Given the description of an element on the screen output the (x, y) to click on. 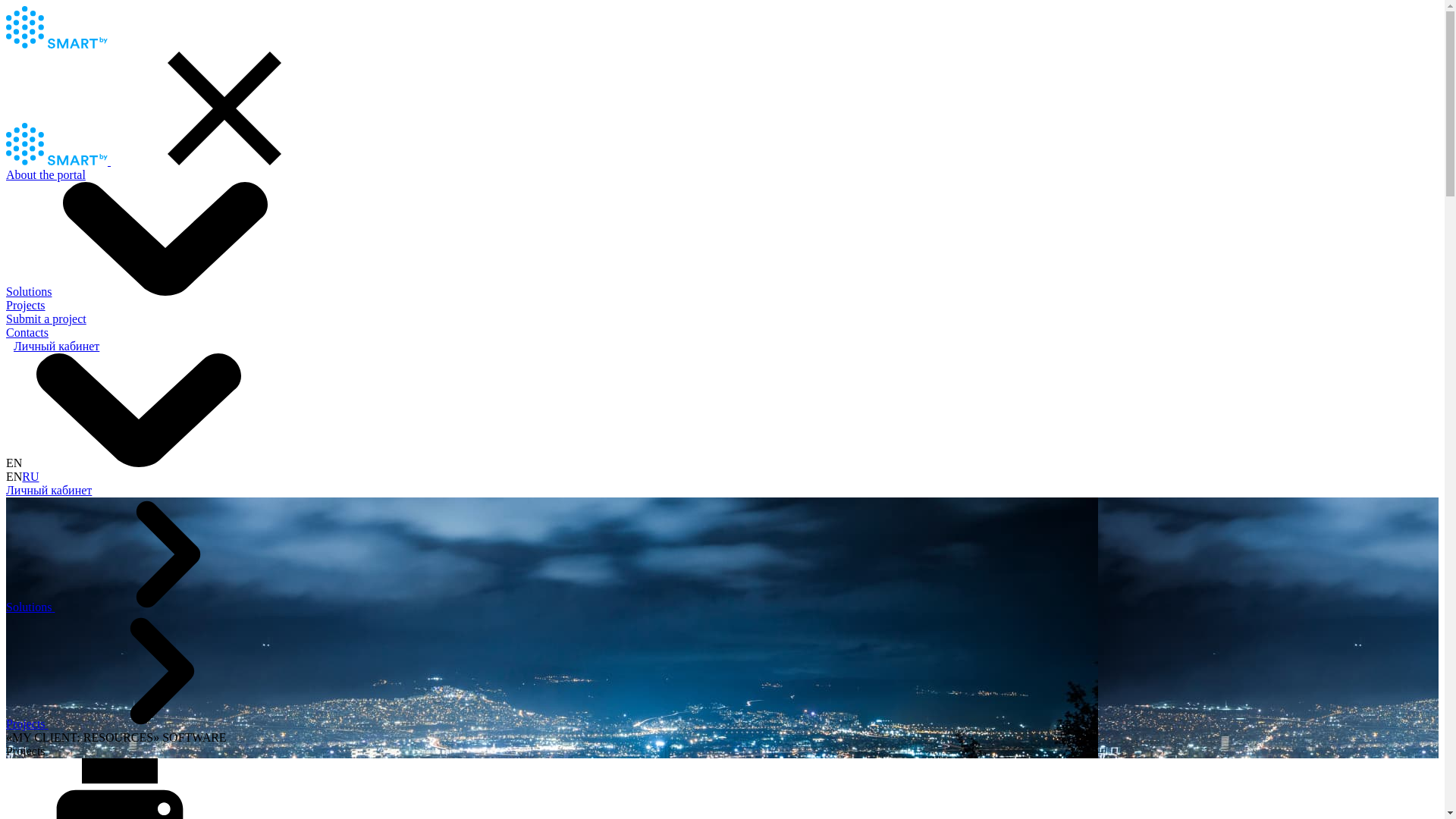
Solutions Element type: text (30, 606)
About the portal Element type: text (45, 174)
RU Element type: text (29, 476)
en.smart.by Element type: hover (58, 160)
Projects Element type: text (25, 304)
Solutions Element type: text (142, 291)
en.smart.by Element type: hover (56, 43)
Contacts Element type: text (27, 332)
Submit a project Element type: text (46, 318)
Projects Element type: text (27, 723)
